Given the description of an element on the screen output the (x, y) to click on. 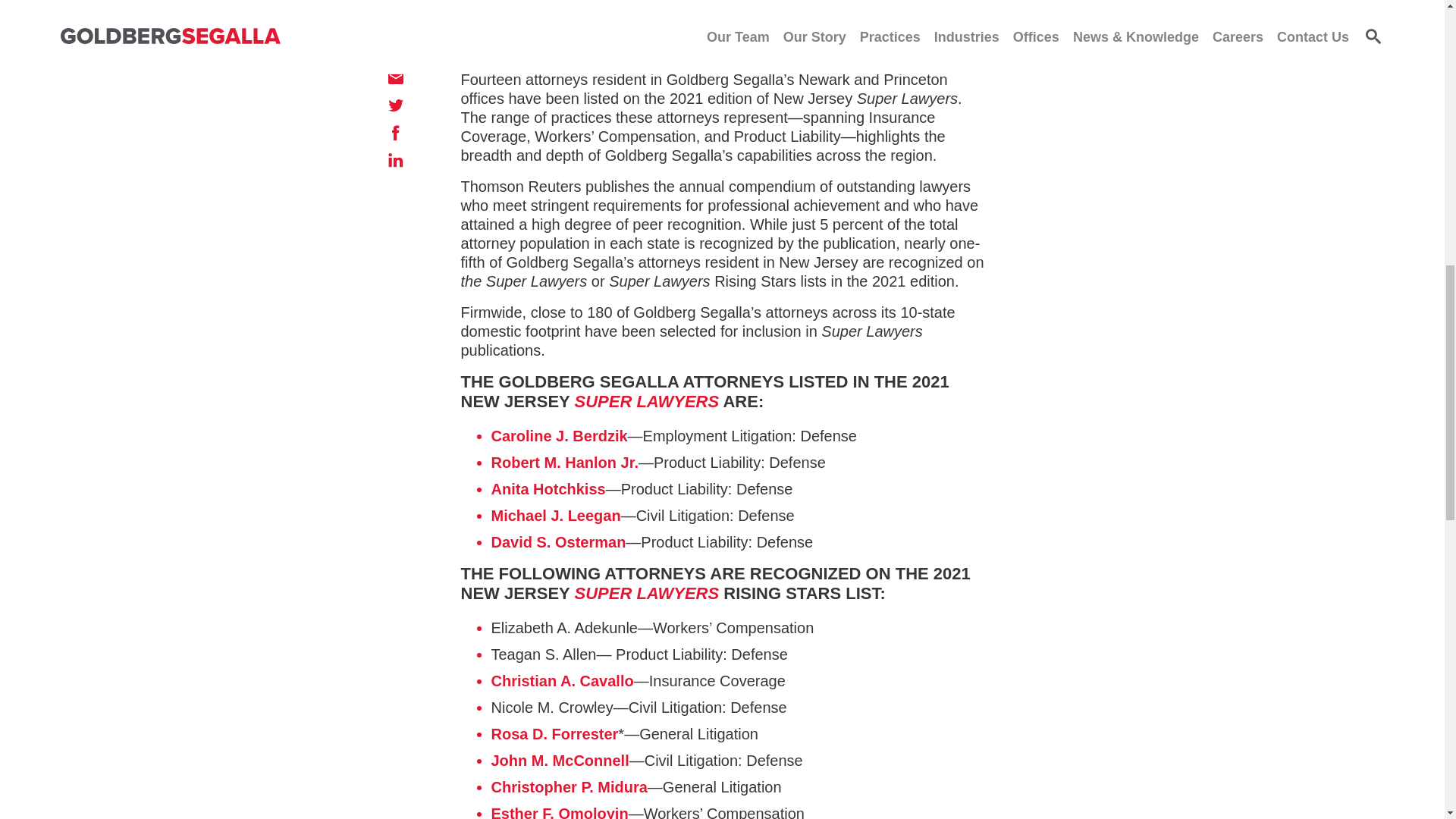
Anita Hotchkiss (548, 488)
Robert M. Hanlon Jr. (565, 462)
Caroline J. Berdzik (559, 435)
